Given the description of an element on the screen output the (x, y) to click on. 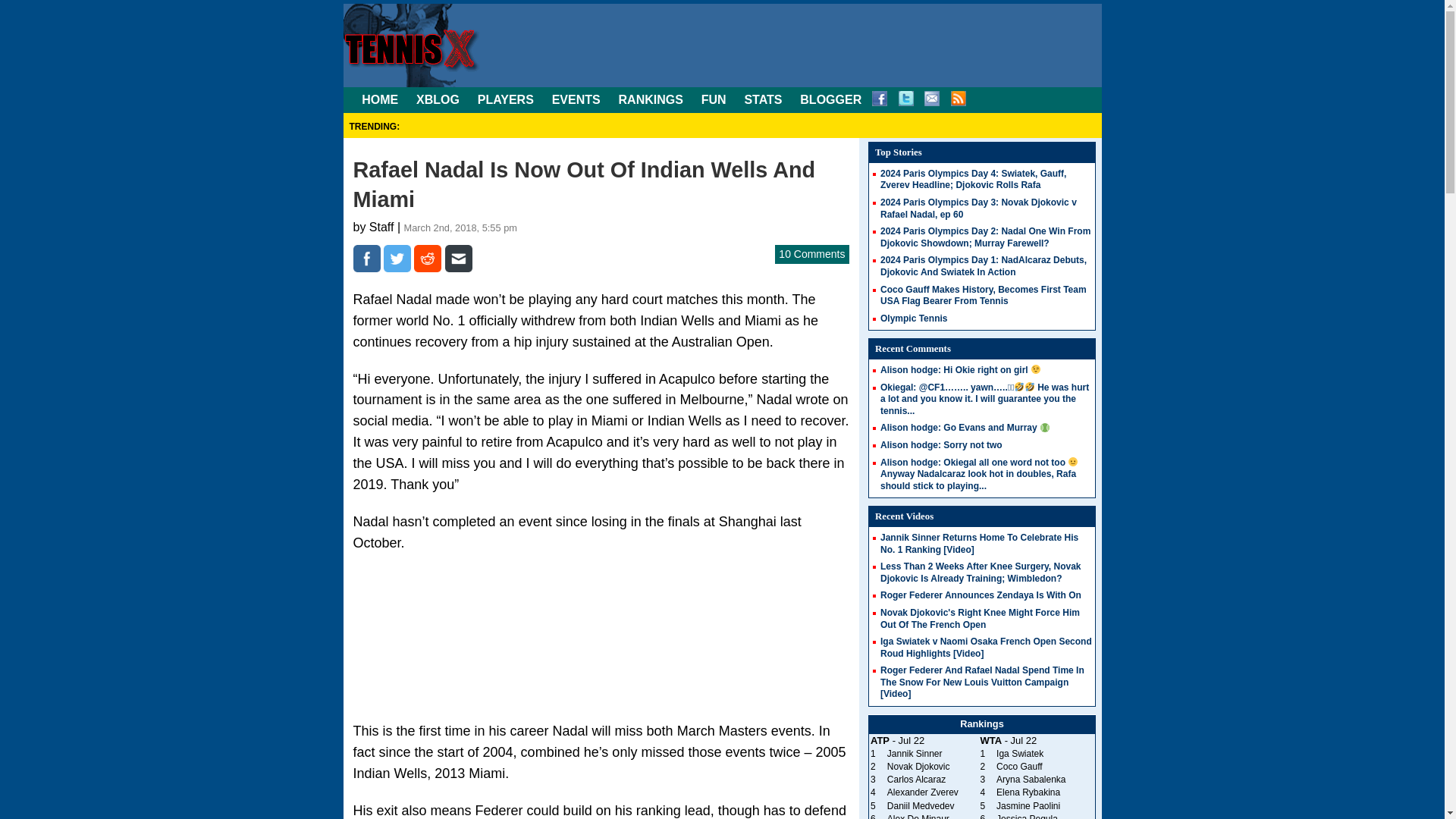
Advertisement (600, 631)
Tennis Stats Data (762, 99)
RANKINGS (650, 99)
EVENTS (575, 99)
Tennis Blogs (830, 99)
Tennis Rankings (650, 99)
Player Information (505, 99)
HOME (379, 99)
STATS (762, 99)
XBLOG (438, 99)
FUN (713, 99)
BLOGGER (830, 99)
Fun (713, 99)
PLAYERS (505, 99)
Tennis News at Tennis-X.com (379, 99)
